Given the description of an element on the screen output the (x, y) to click on. 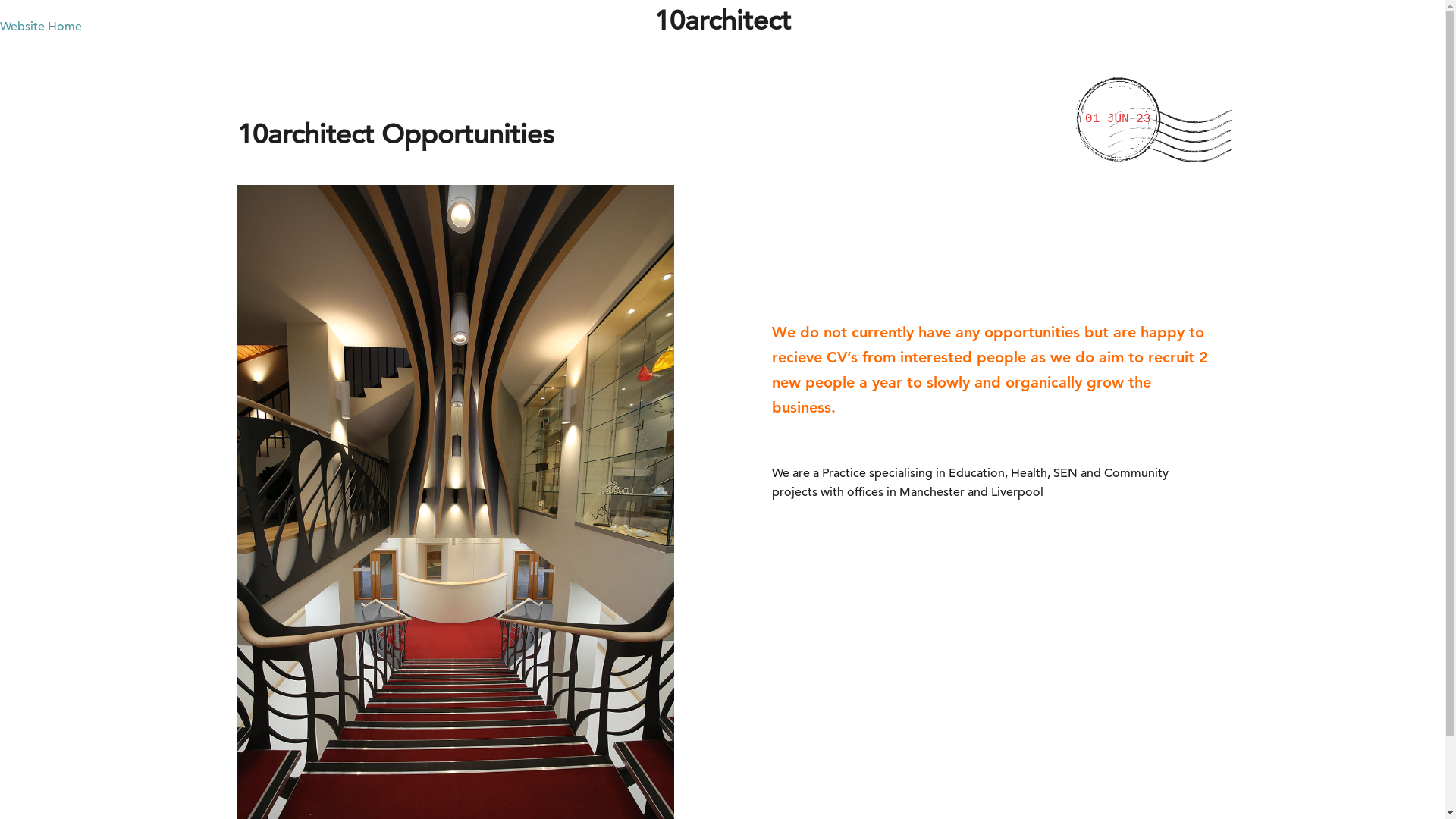
Website Home Element type: text (40, 26)
